Given the description of an element on the screen output the (x, y) to click on. 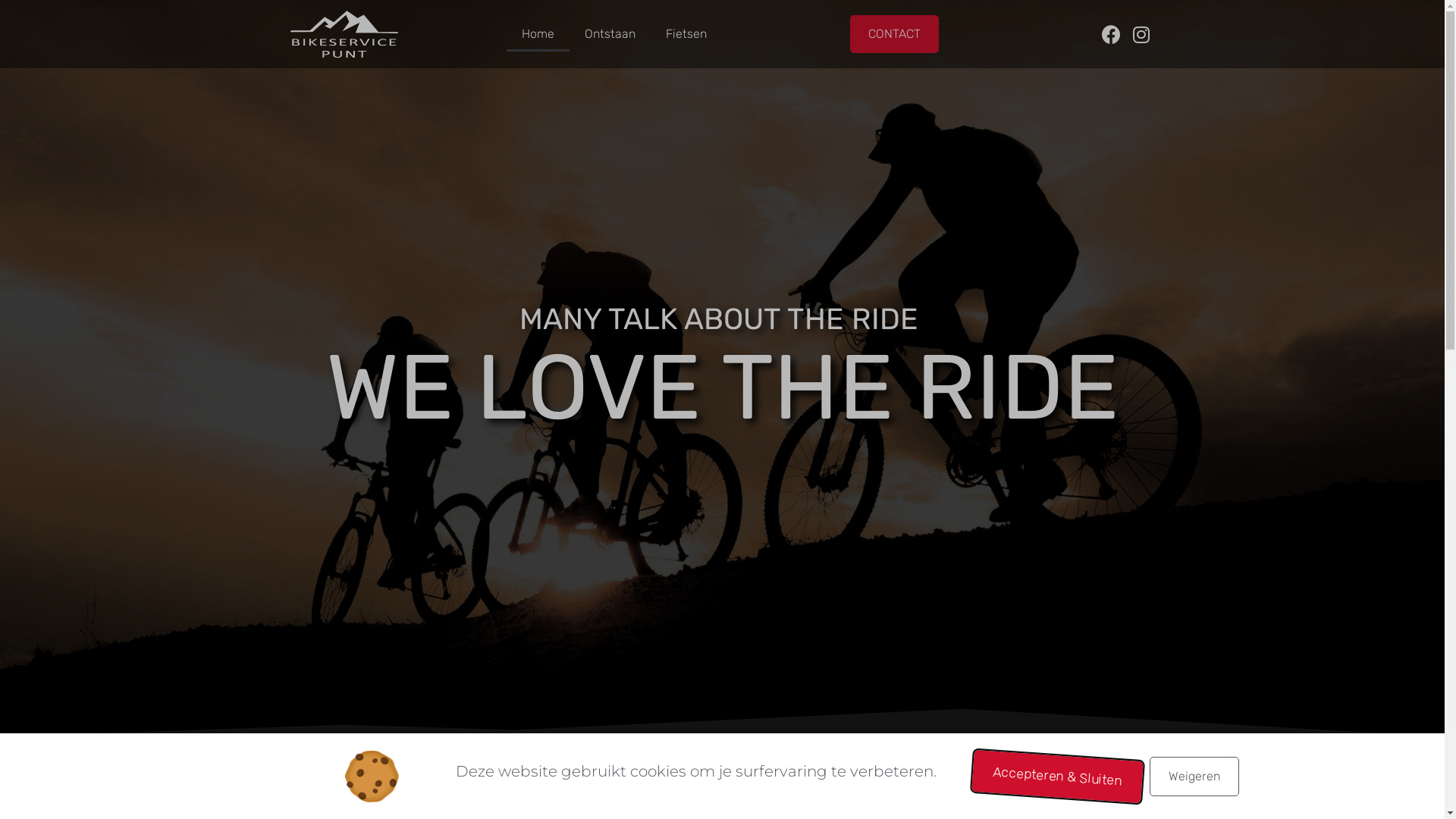
Weigeren Element type: text (1194, 776)
Accepteren & Sluiten Element type: text (1048, 768)
Home Element type: text (537, 33)
Ontstaan Element type: text (608, 33)
CONTACT Element type: text (893, 34)
Fietsen Element type: text (685, 33)
